Given the description of an element on the screen output the (x, y) to click on. 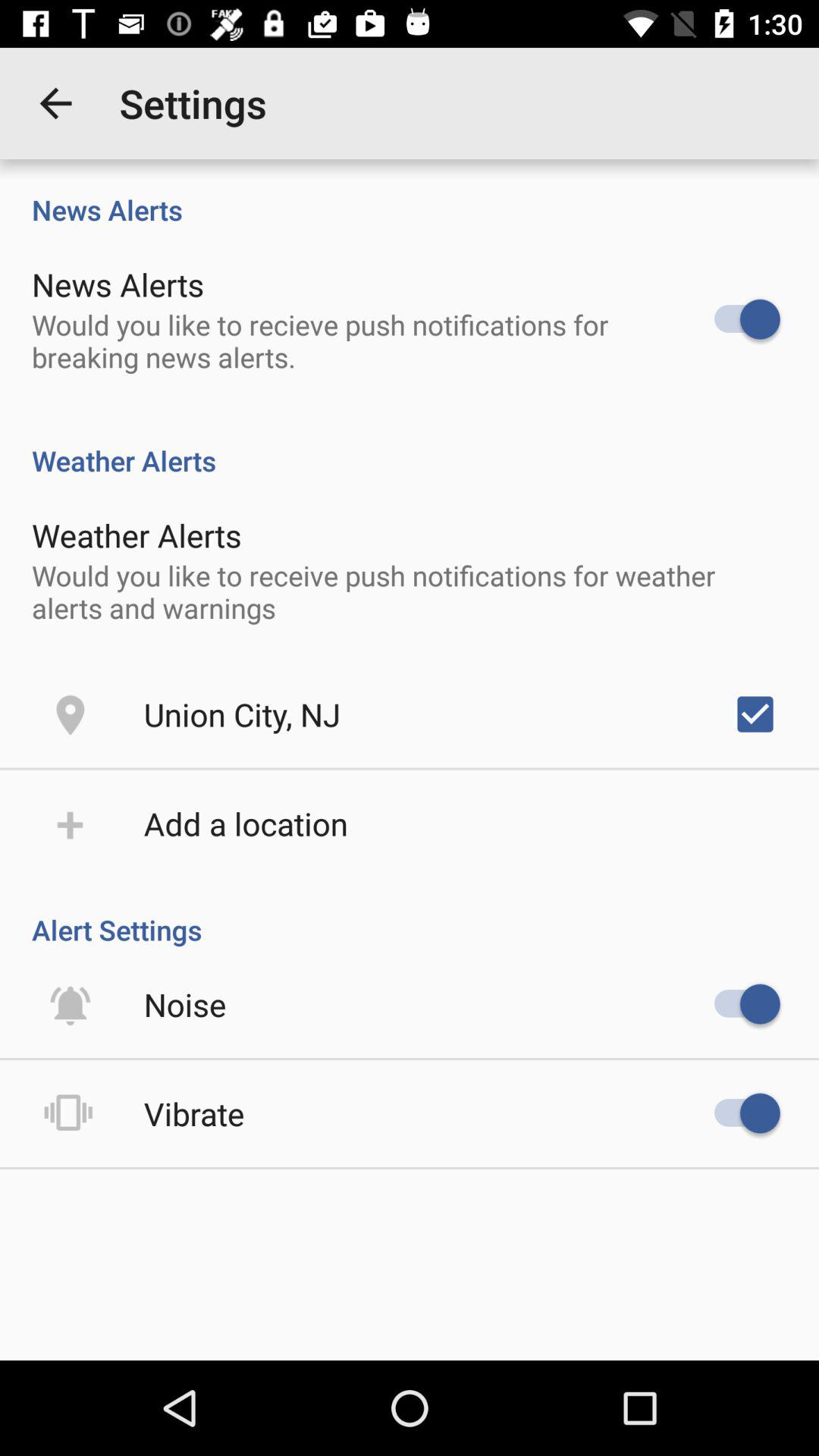
press the icon above the alert settings item (755, 714)
